Given the description of an element on the screen output the (x, y) to click on. 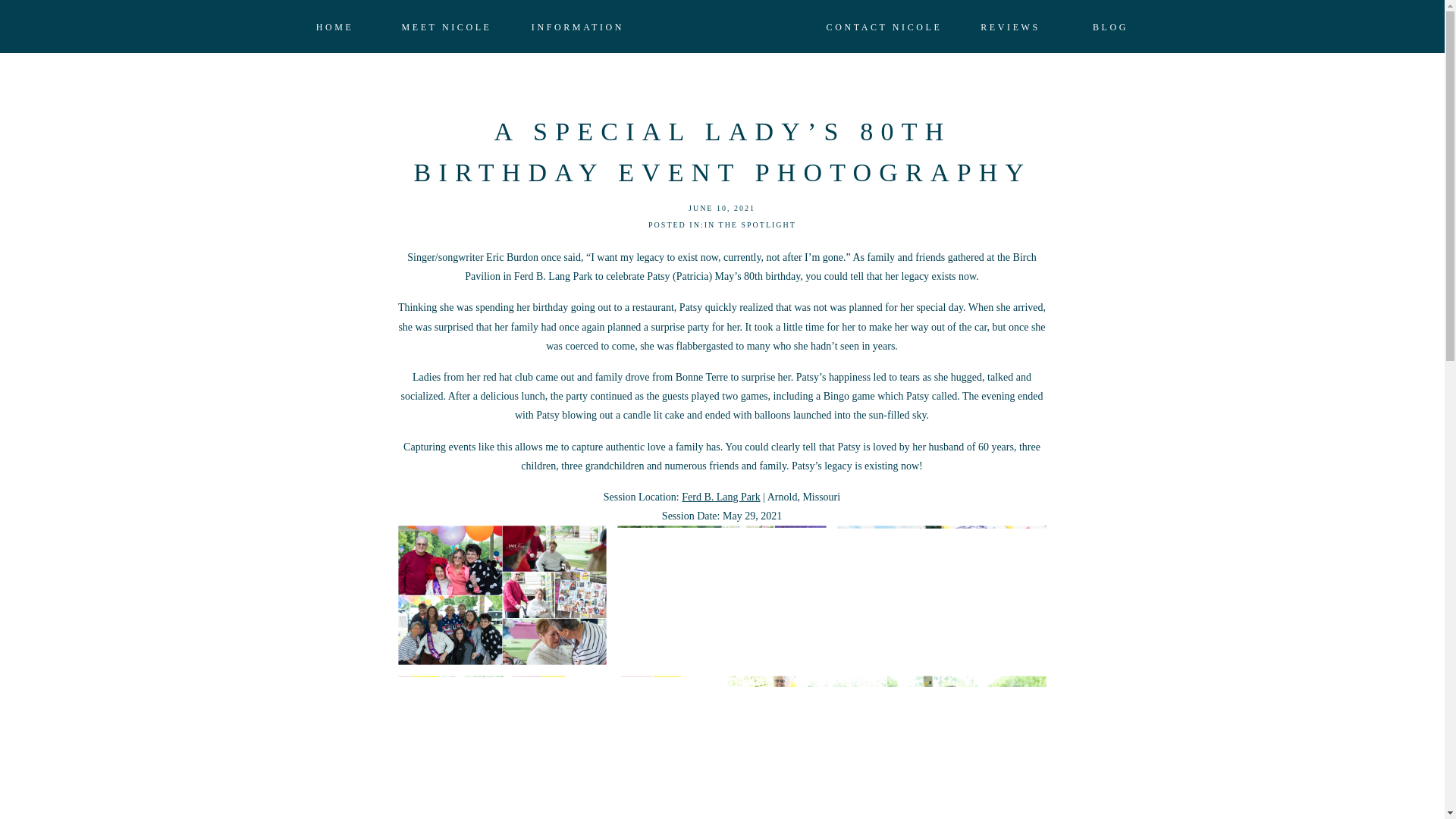
CONTACT NICOLE (883, 26)
Ferd B. Lang Park (720, 496)
BLOG (1109, 26)
IN THE SPOTLIGHT (750, 224)
HOME (334, 26)
REVIEWS (1010, 26)
INFORMATION (577, 26)
MEET NICOLE (446, 26)
